Given the description of an element on the screen output the (x, y) to click on. 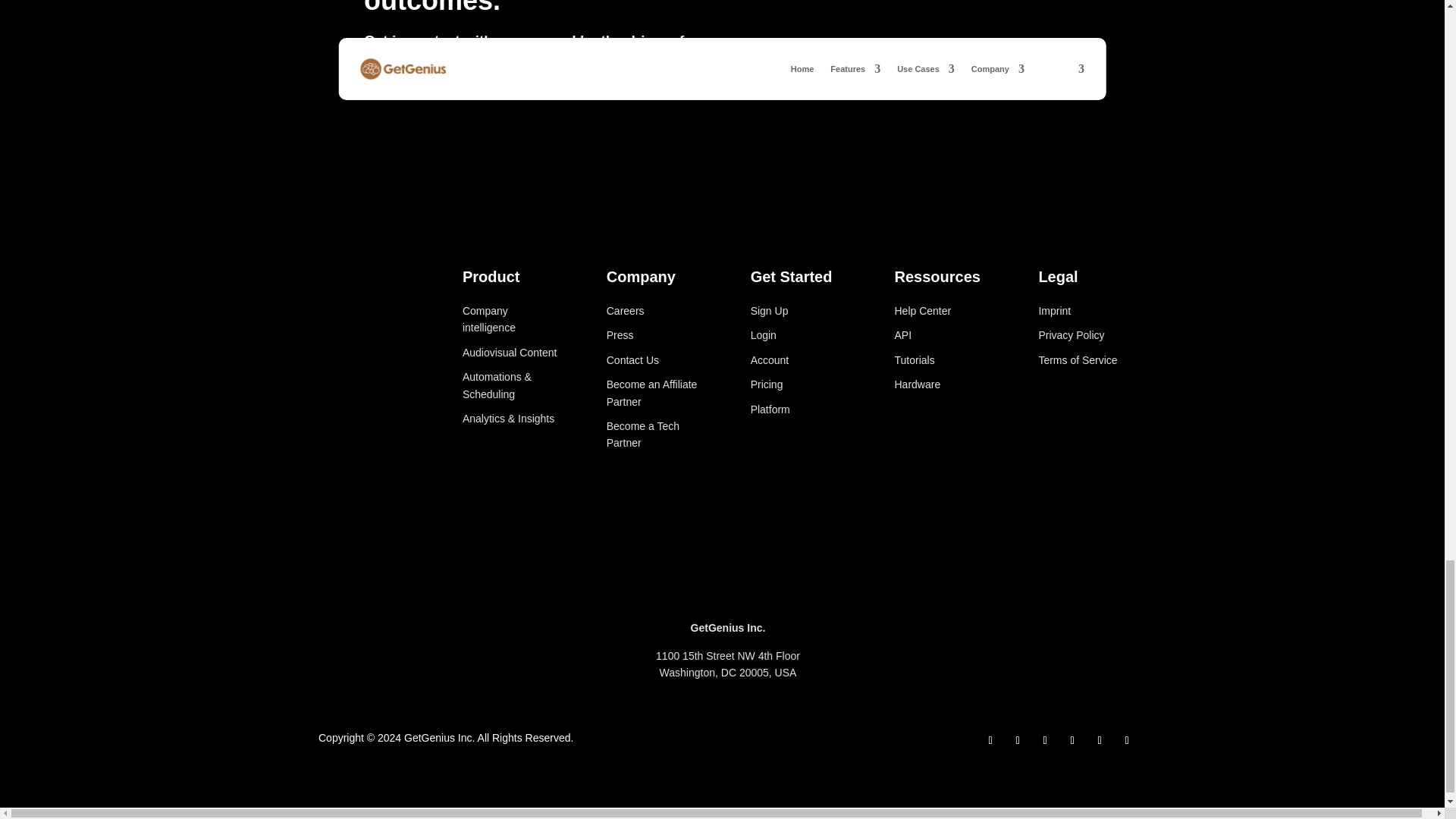
Picture 1 (1087, 427)
Follow on Instagram (1017, 740)
Follow on TikTok (1072, 740)
Follow on LinkedIn (1044, 740)
Follow on Facebook (990, 740)
